Given the description of an element on the screen output the (x, y) to click on. 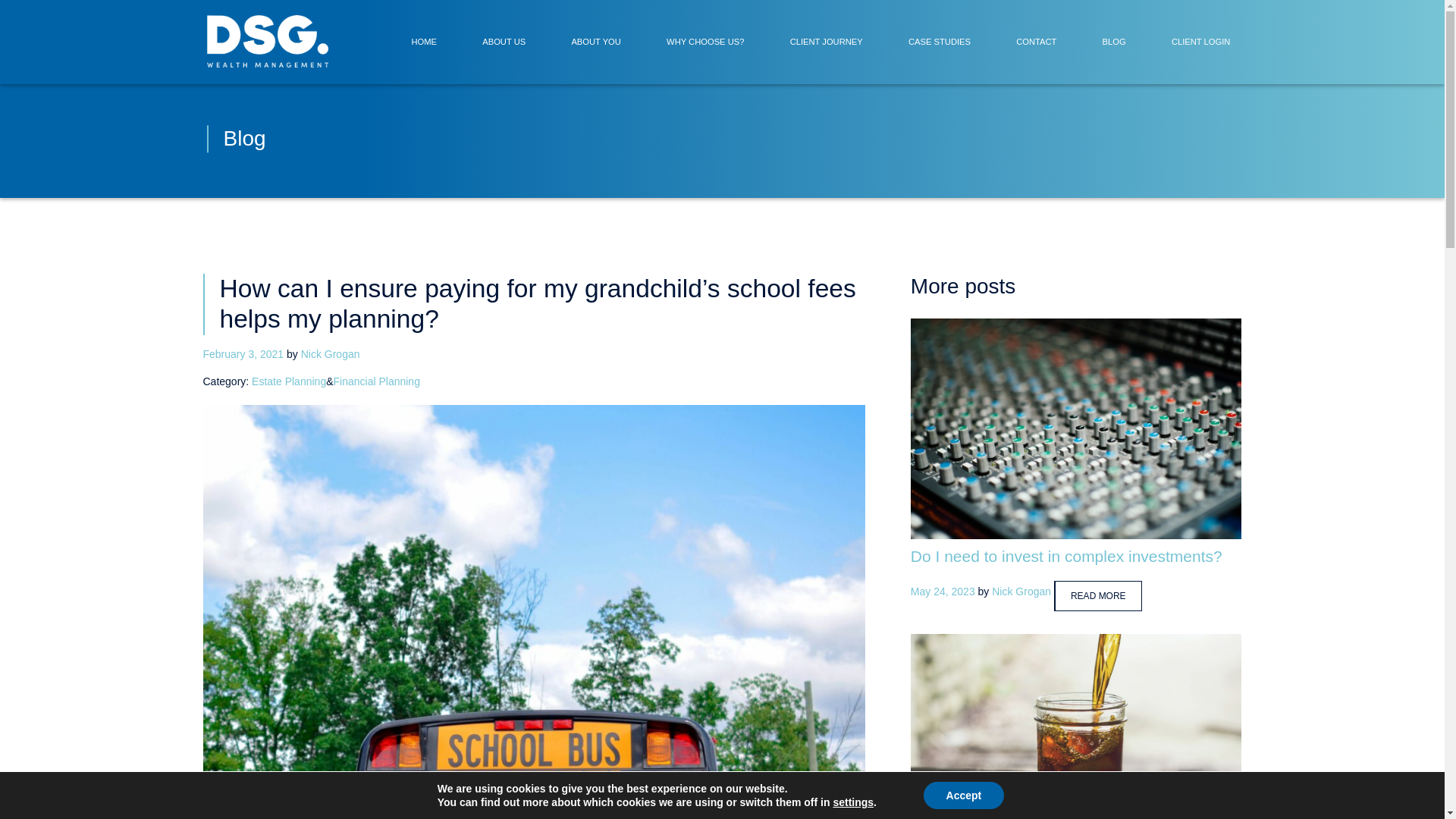
BLOG (1114, 42)
CLIENT JOURNEY (826, 42)
CLIENT LOGIN (1201, 42)
Why choose us? (705, 42)
Estate Planning (288, 381)
Client journey (826, 42)
HOME (423, 42)
About you (595, 42)
CASE STUDIES (939, 42)
Contact (1036, 42)
Nick Grogan (330, 354)
February 3, 2021 (243, 354)
Case studies (939, 42)
WHY CHOOSE US? (705, 42)
CONTACT (1036, 42)
